Given the description of an element on the screen output the (x, y) to click on. 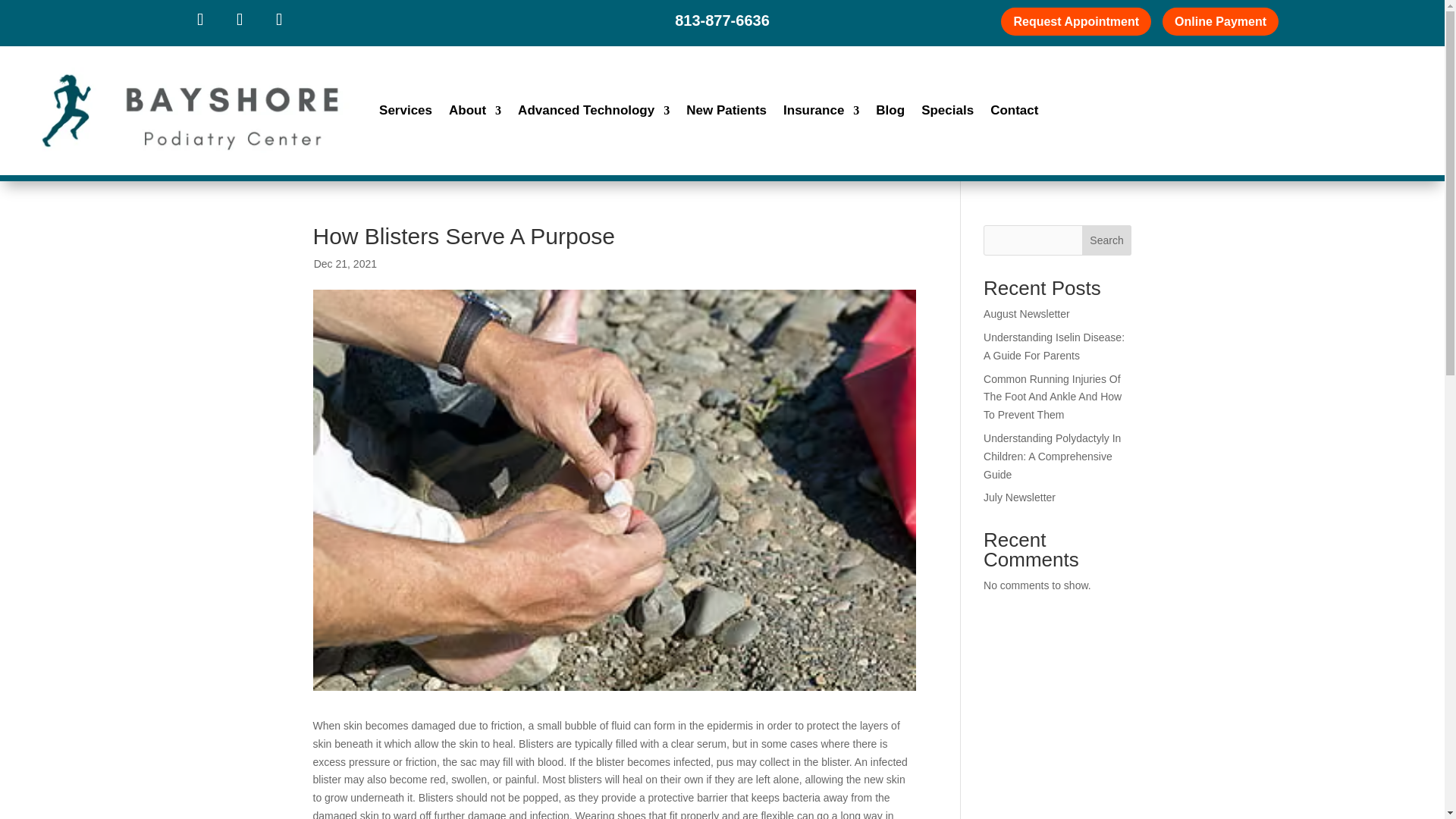
August Newsletter (1027, 313)
Advanced Technology (593, 110)
Online Payment (1219, 21)
Understanding Iselin Disease: A Guide For Parents (1054, 346)
Request Appointment (1076, 21)
Follow on X (239, 19)
Understanding Polydactyly In Children: A Comprehensive Guide (1052, 456)
Follow on Facebook (199, 19)
July Newsletter (1019, 497)
Search (1106, 240)
New Patients (726, 110)
Follow on Instagram (278, 19)
